Given the description of an element on the screen output the (x, y) to click on. 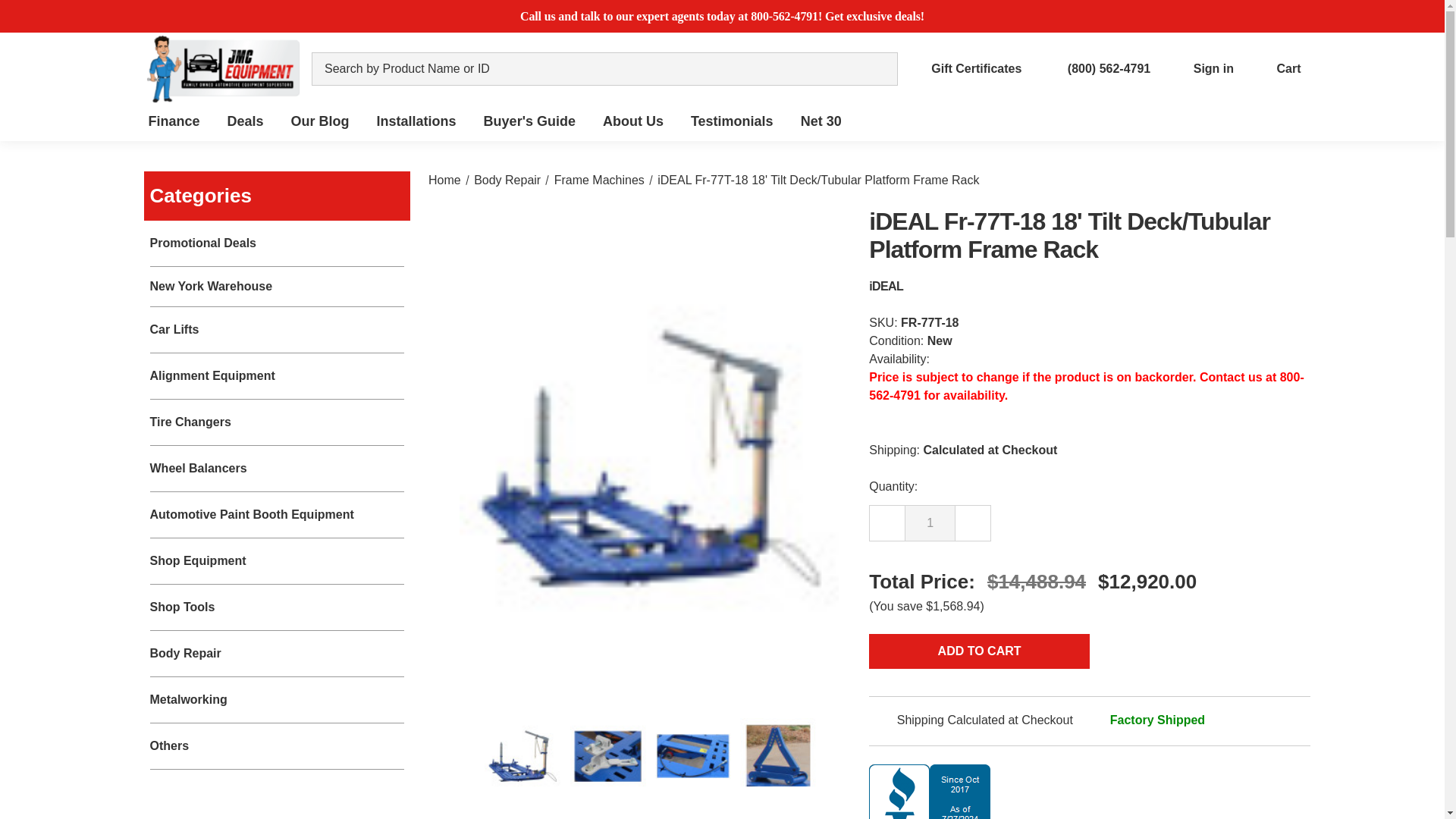
Add to Cart (979, 651)
iDEAL Fr-77T-18 18' Tilt DeckTubular Platform Frame Rack (608, 755)
Cart (1275, 68)
iDEAL Fr-77T-18 18' Tilt DeckTubular Platform Frame Rack (692, 755)
1 (929, 523)
Sign in (1200, 68)
iDEAL Fr-77T-18 18' Tilt DeckTubular Platform Frame Rack (777, 755)
Gift Certificates (964, 68)
JMC Automotive Equipment  (223, 69)
